Given the description of an element on the screen output the (x, y) to click on. 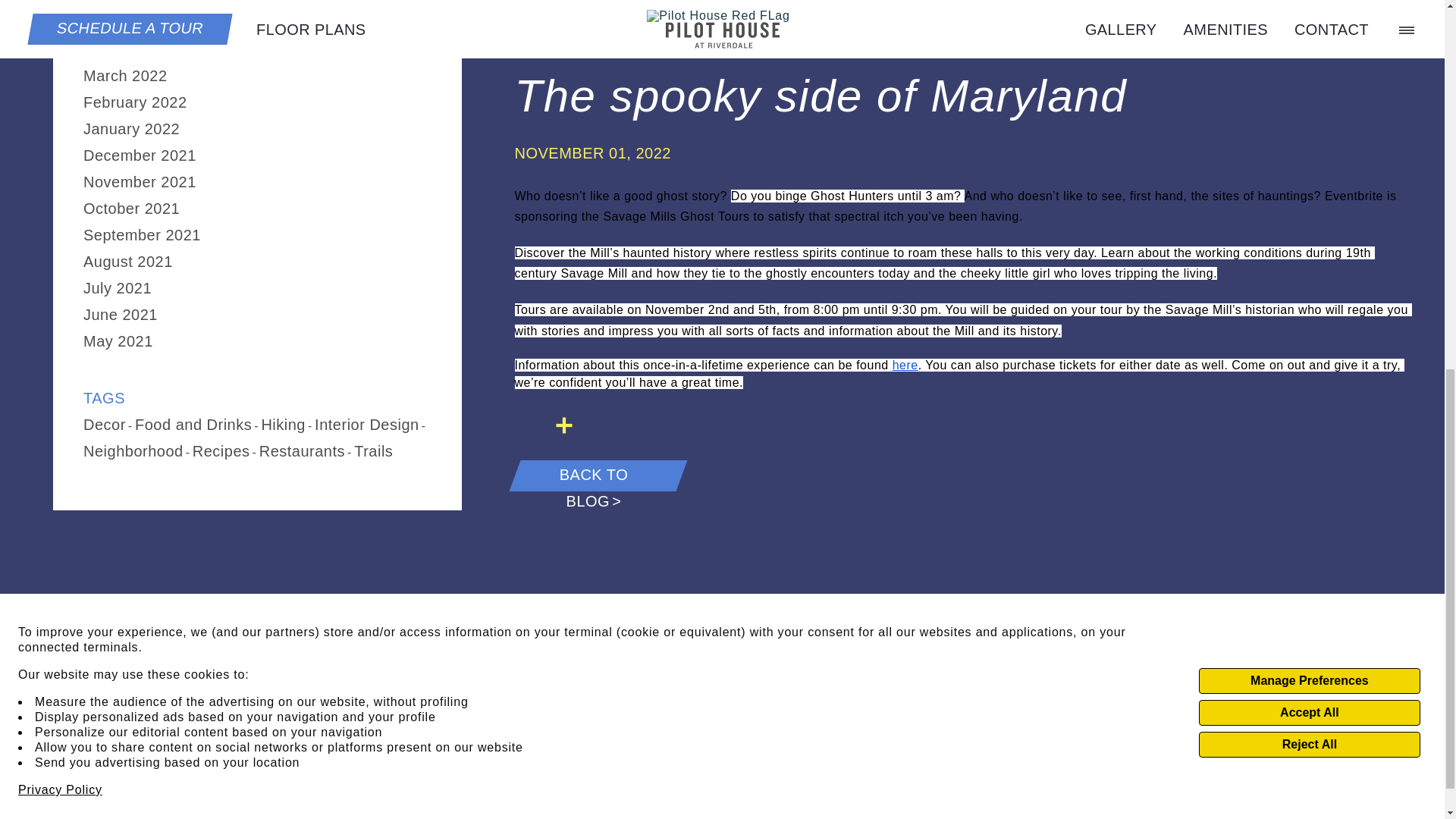
Decor Tag (103, 424)
Restaurants Tag (302, 451)
Privacy Policy (59, 91)
Facebook (516, 425)
June 2022 (119, 2)
Interior Design Tag (366, 424)
Twitter (530, 425)
Neighborhood Tag (132, 451)
Food and Drinks Tag (193, 424)
Reject All (1309, 45)
Email (544, 425)
Recipes Tag (221, 451)
Trails Tag (373, 451)
Hiking Tag (282, 424)
Accept All (1309, 14)
